Given the description of an element on the screen output the (x, y) to click on. 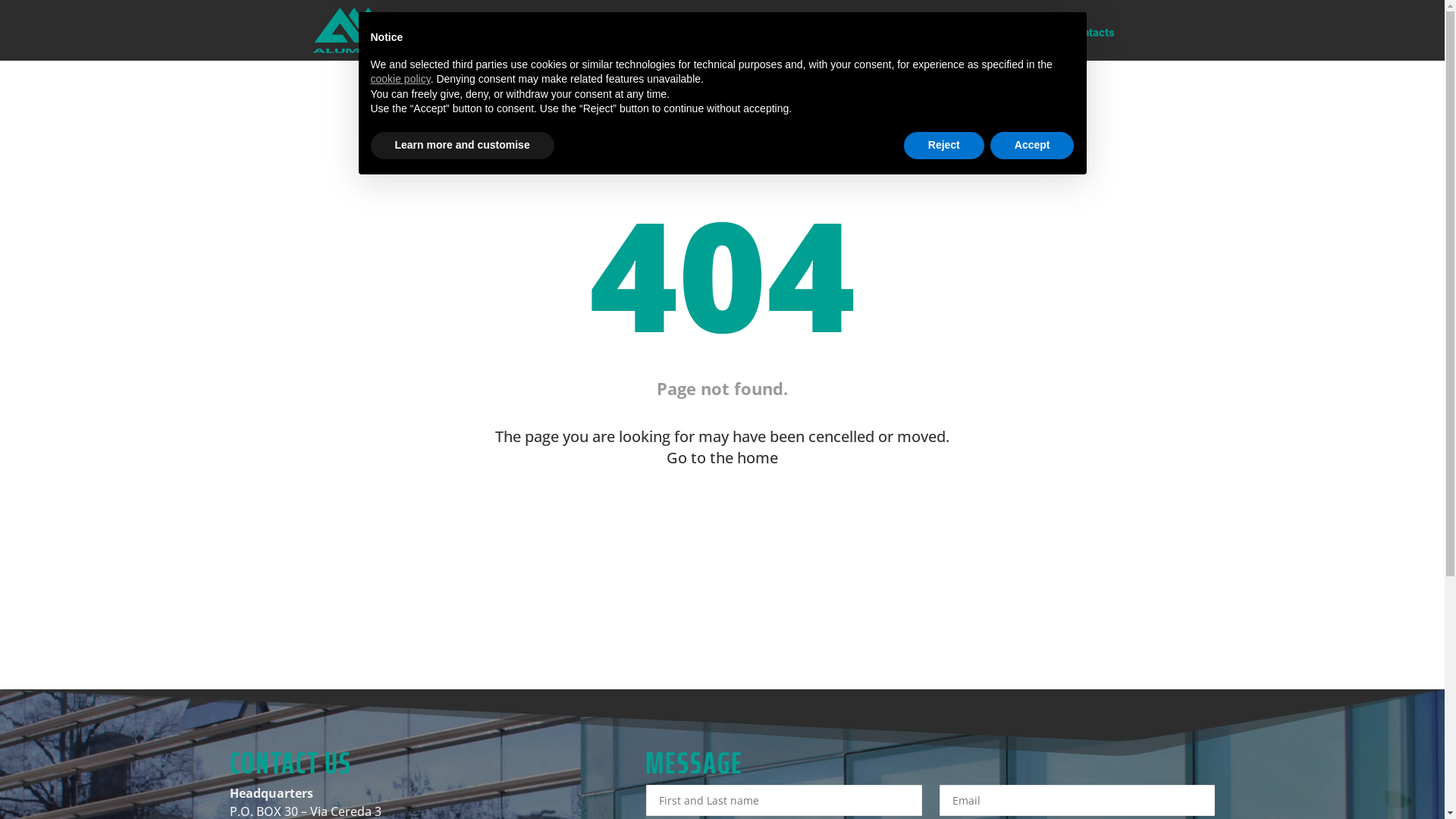
Home Element type: text (851, 43)
Projects Element type: text (1031, 43)
logo_home Element type: hover (354, 30)
Learn more and customise Element type: text (461, 145)
cookie policy Element type: text (399, 78)
Contacts Element type: text (1091, 43)
Reject Element type: text (943, 145)
Products Element type: text (970, 43)
Company Element type: text (907, 43)
Accept Element type: text (1032, 145)
